Given the description of an element on the screen output the (x, y) to click on. 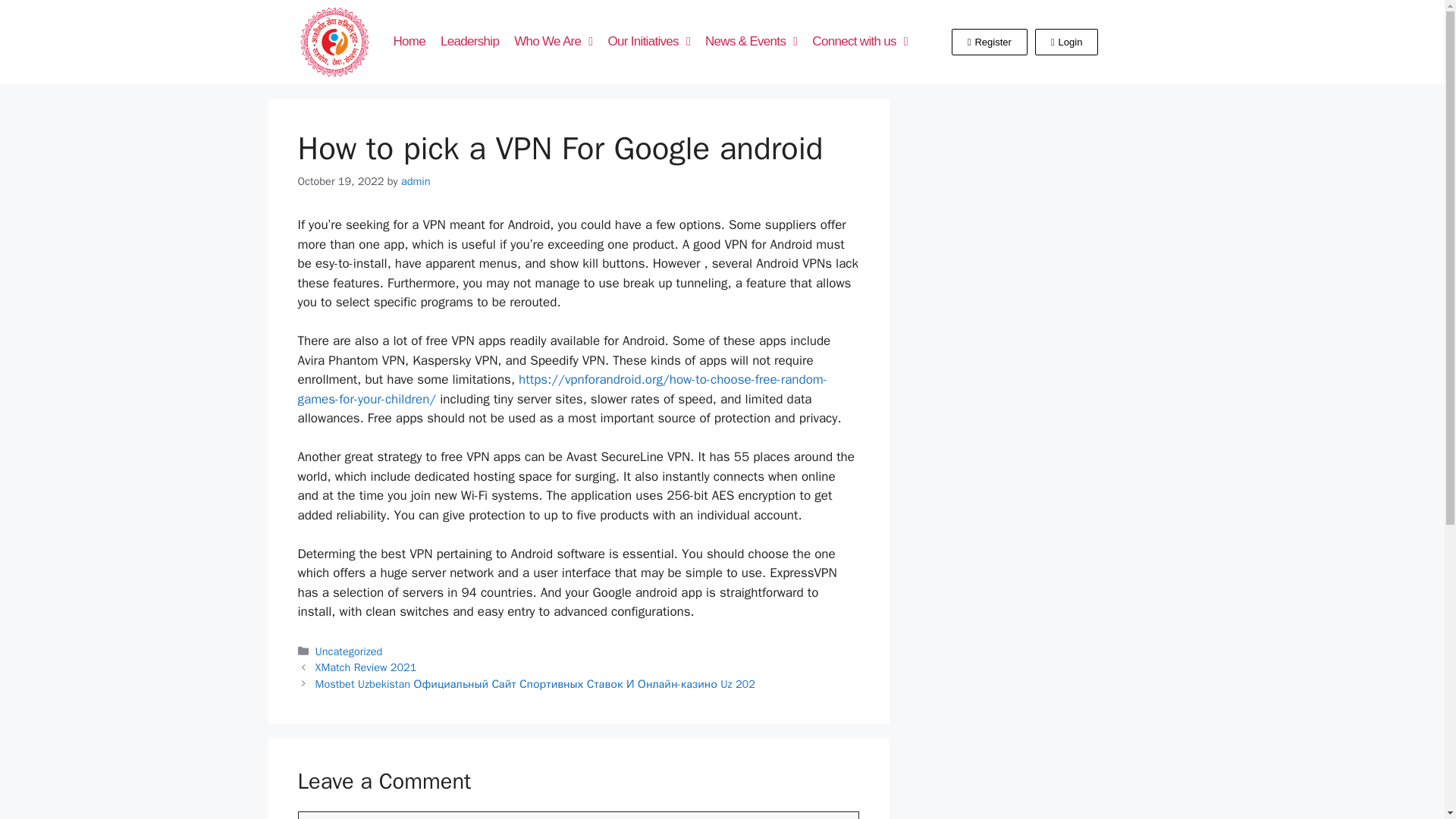
View all posts by admin (415, 181)
Home (408, 41)
Leadership (469, 41)
Our Initiatives (648, 41)
Login (1067, 41)
Connect with us (860, 41)
Register (989, 41)
Who We Are (552, 41)
